Given the description of an element on the screen output the (x, y) to click on. 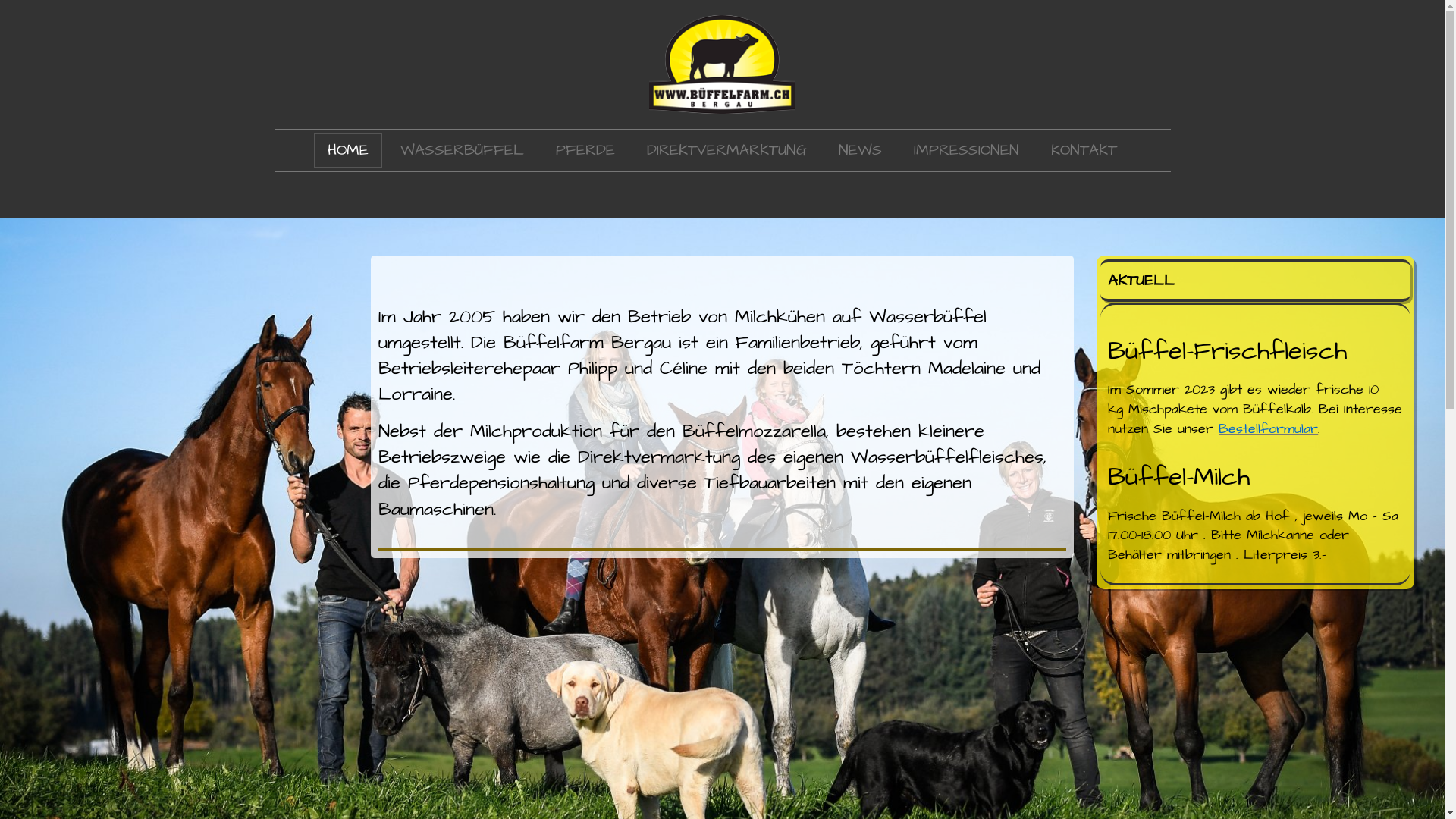
IMPRESSIONEN Element type: text (966, 150)
NEWS Element type: text (860, 150)
HOME Element type: text (347, 150)
KONTAKT Element type: text (1083, 150)
DIREKTVERMARKTUNG Element type: text (726, 150)
PFERDE Element type: text (585, 150)
Bestellformular Element type: text (1267, 428)
